Given the description of an element on the screen output the (x, y) to click on. 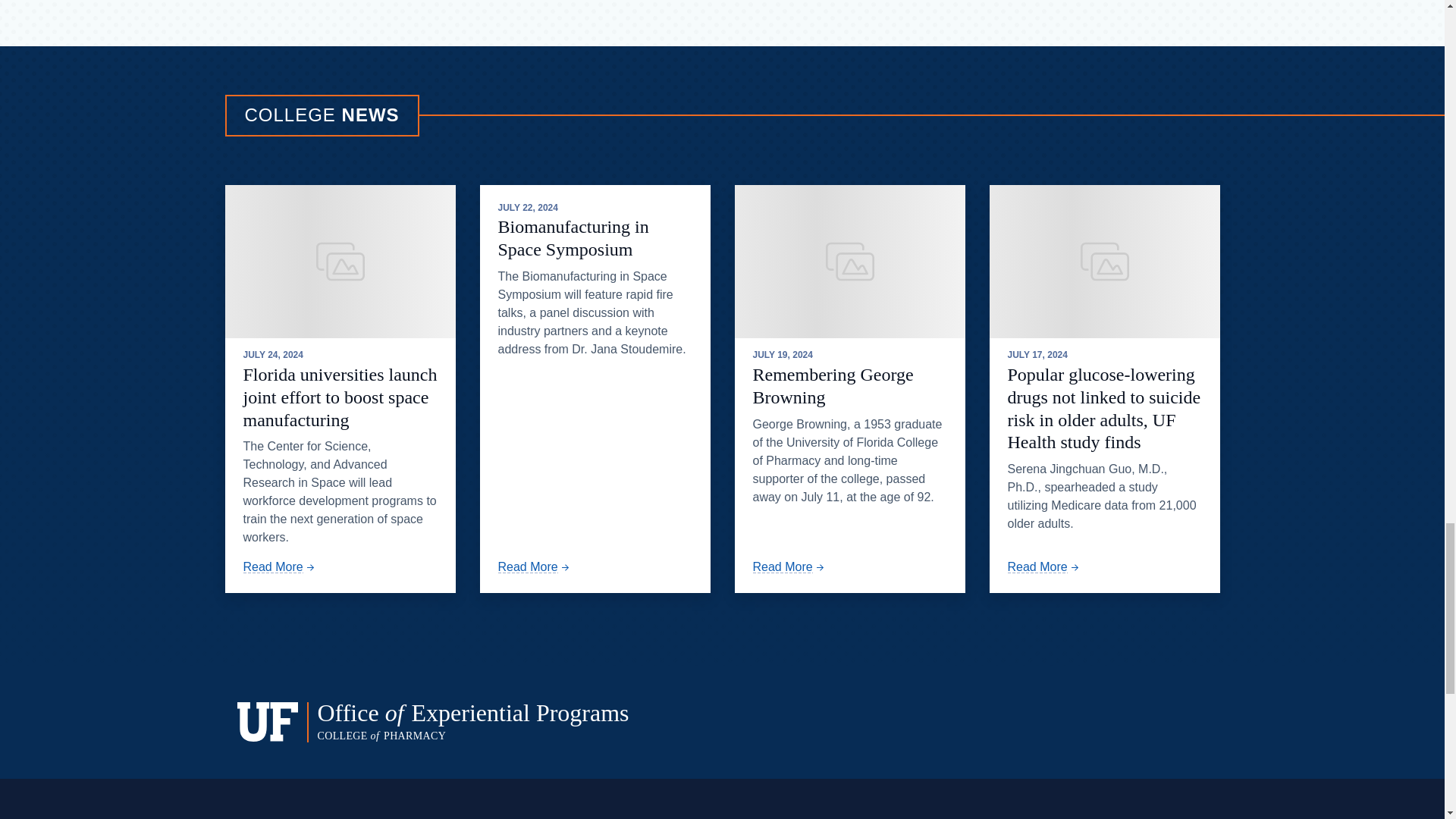
Read More (534, 566)
Read More (789, 566)
Read More (280, 566)
Read More (1044, 566)
